Given the description of an element on the screen output the (x, y) to click on. 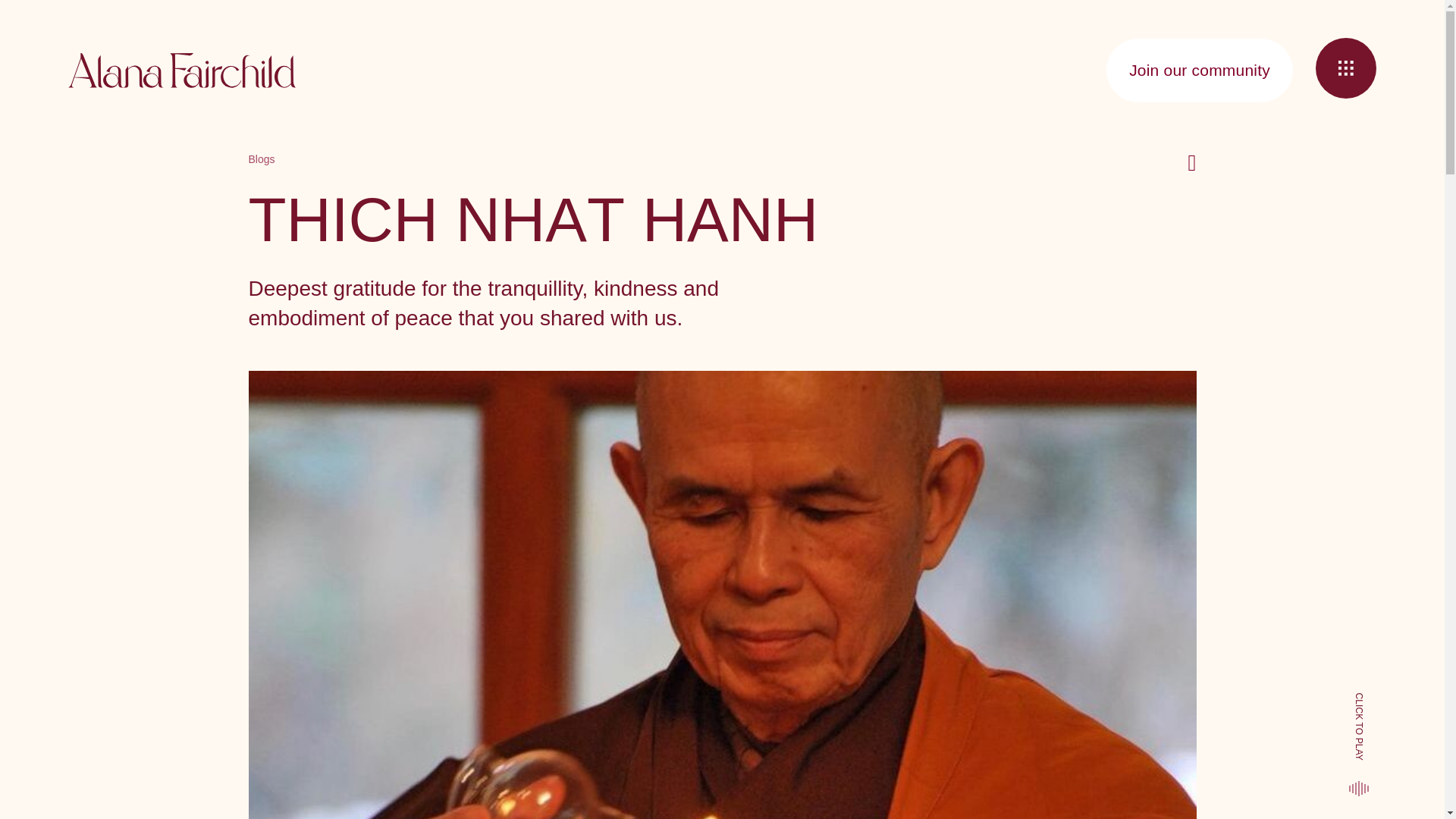
Blogs (261, 159)
Join our community (1199, 70)
